Given the description of an element on the screen output the (x, y) to click on. 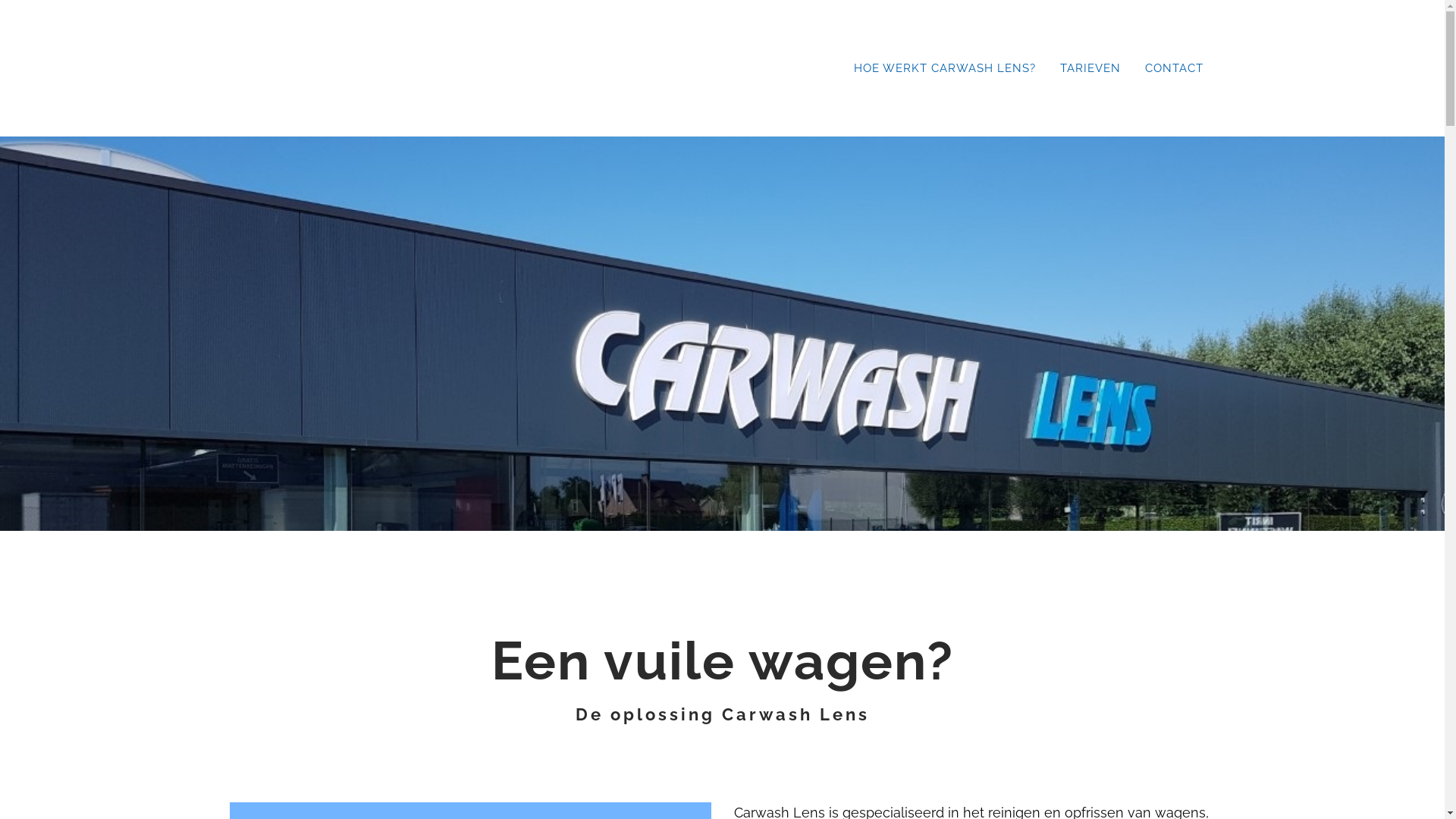
TARIEVEN Element type: text (1090, 68)
HOE WERKT CARWASH LENS? Element type: text (944, 68)
CONTACT Element type: text (1173, 68)
